Given the description of an element on the screen output the (x, y) to click on. 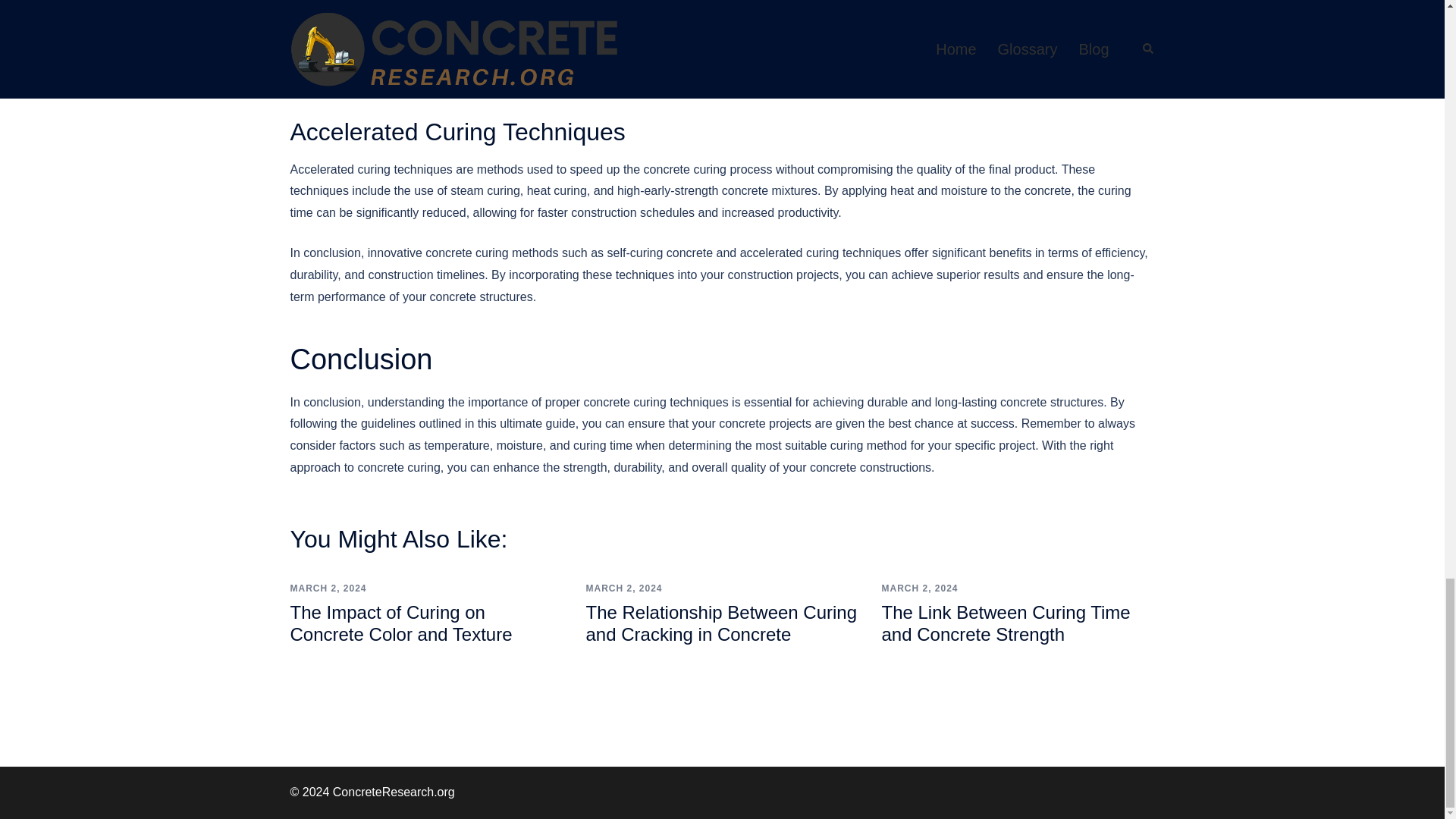
MARCH 2, 2024 (623, 588)
MARCH 2, 2024 (327, 588)
The Impact of Curing on Concrete Color and Texture (400, 622)
The Relationship Between Curing and Cracking in Concrete (721, 622)
MARCH 2, 2024 (919, 588)
The Link Between Curing Time and Concrete Strength (1004, 622)
